Given the description of an element on the screen output the (x, y) to click on. 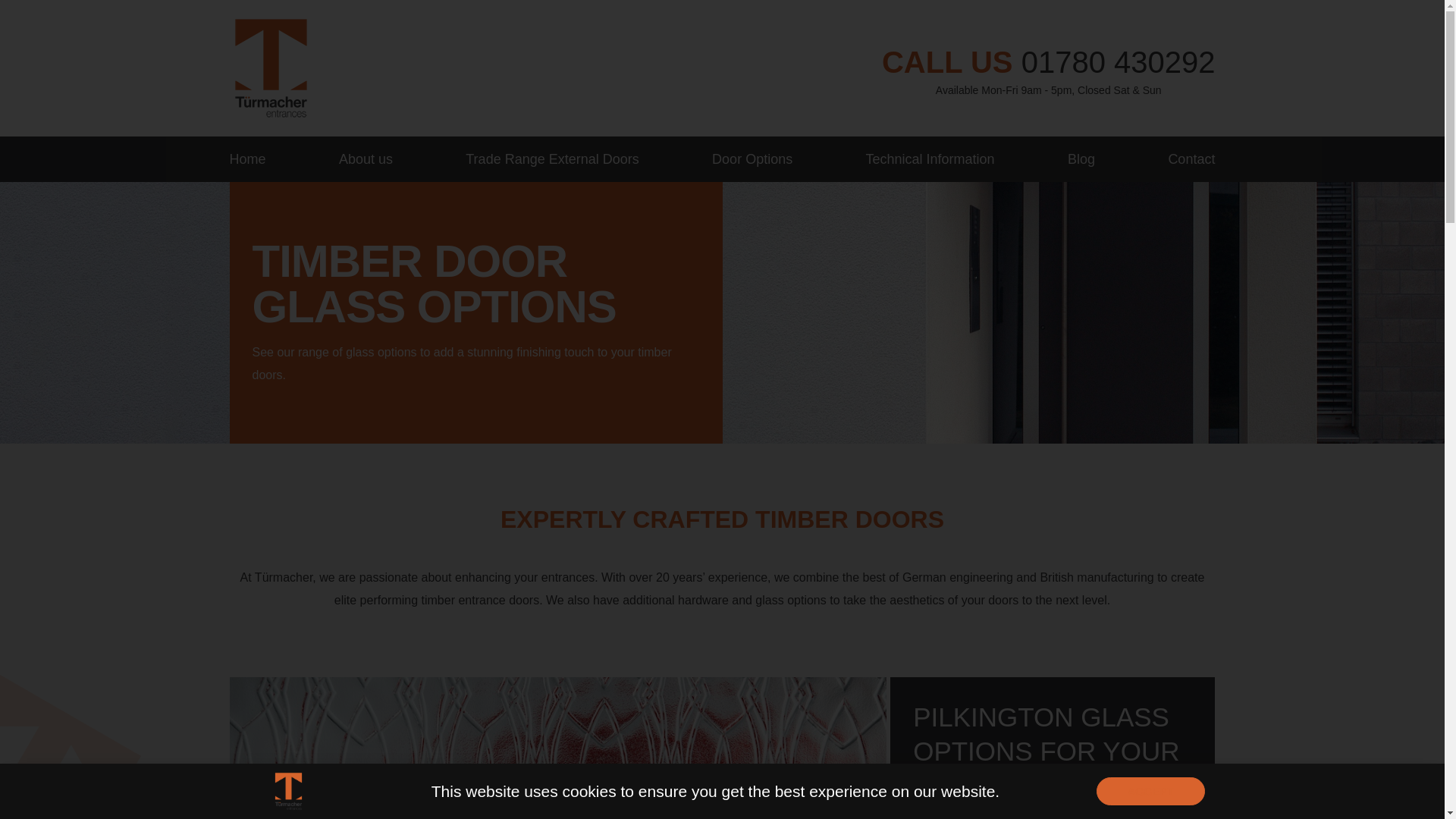
About us (366, 158)
Blog (1080, 158)
Home (255, 158)
Door Options (751, 158)
Trade Range External Doors (552, 158)
ACCEPT (1150, 791)
Contact (1181, 158)
Technical Information (930, 158)
